Given the description of an element on the screen output the (x, y) to click on. 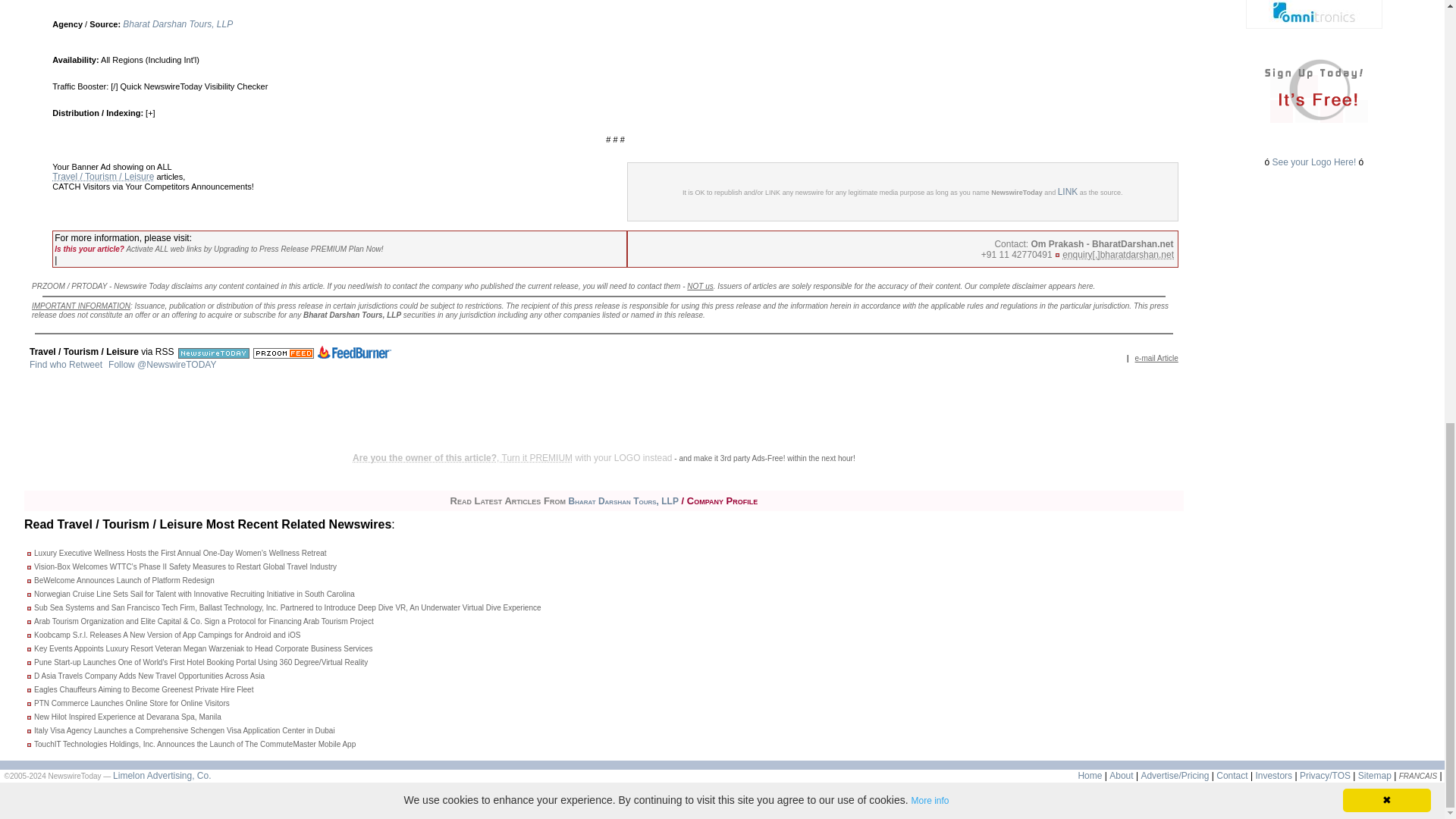
LINK (1068, 191)
e-mail Article (1156, 357)
Find who Retweet (65, 364)
Quick NewswireToday (161, 86)
here (1085, 285)
Bharat Darshan Tours, LLP (177, 23)
